Given the description of an element on the screen output the (x, y) to click on. 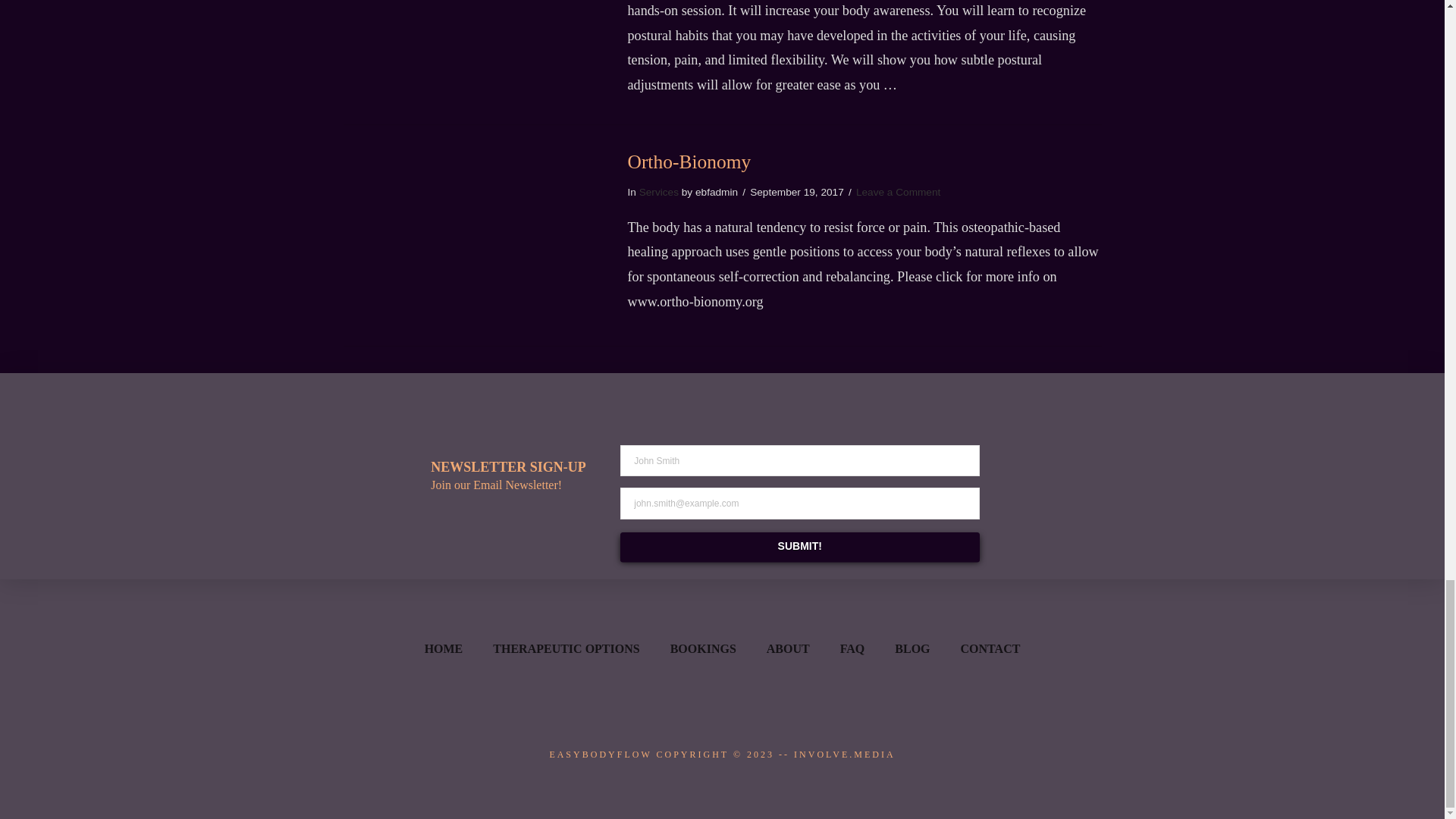
SUBMIT! (799, 545)
